Given the description of an element on the screen output the (x, y) to click on. 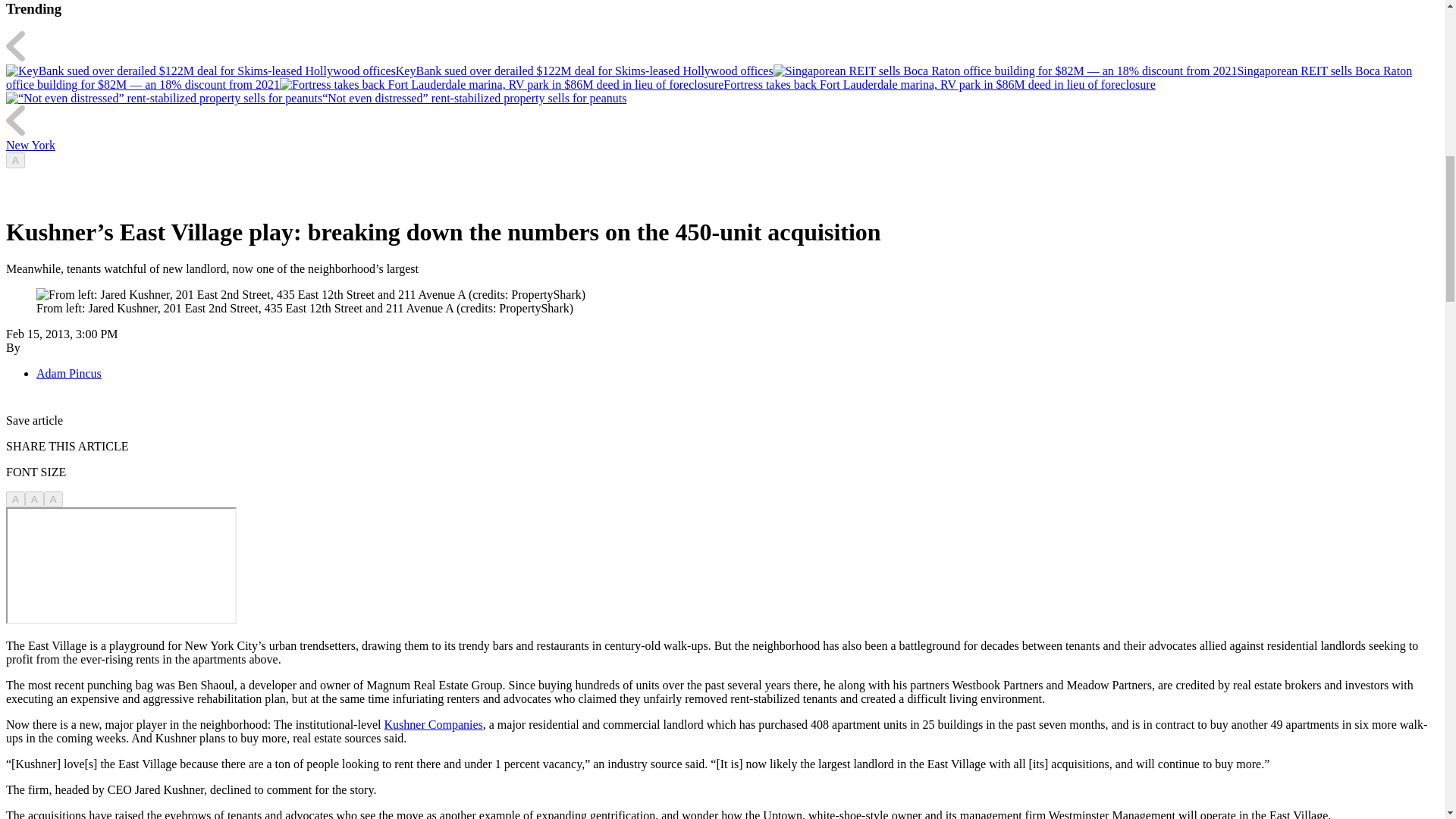
dataBlockWidget (120, 565)
